Given the description of an element on the screen output the (x, y) to click on. 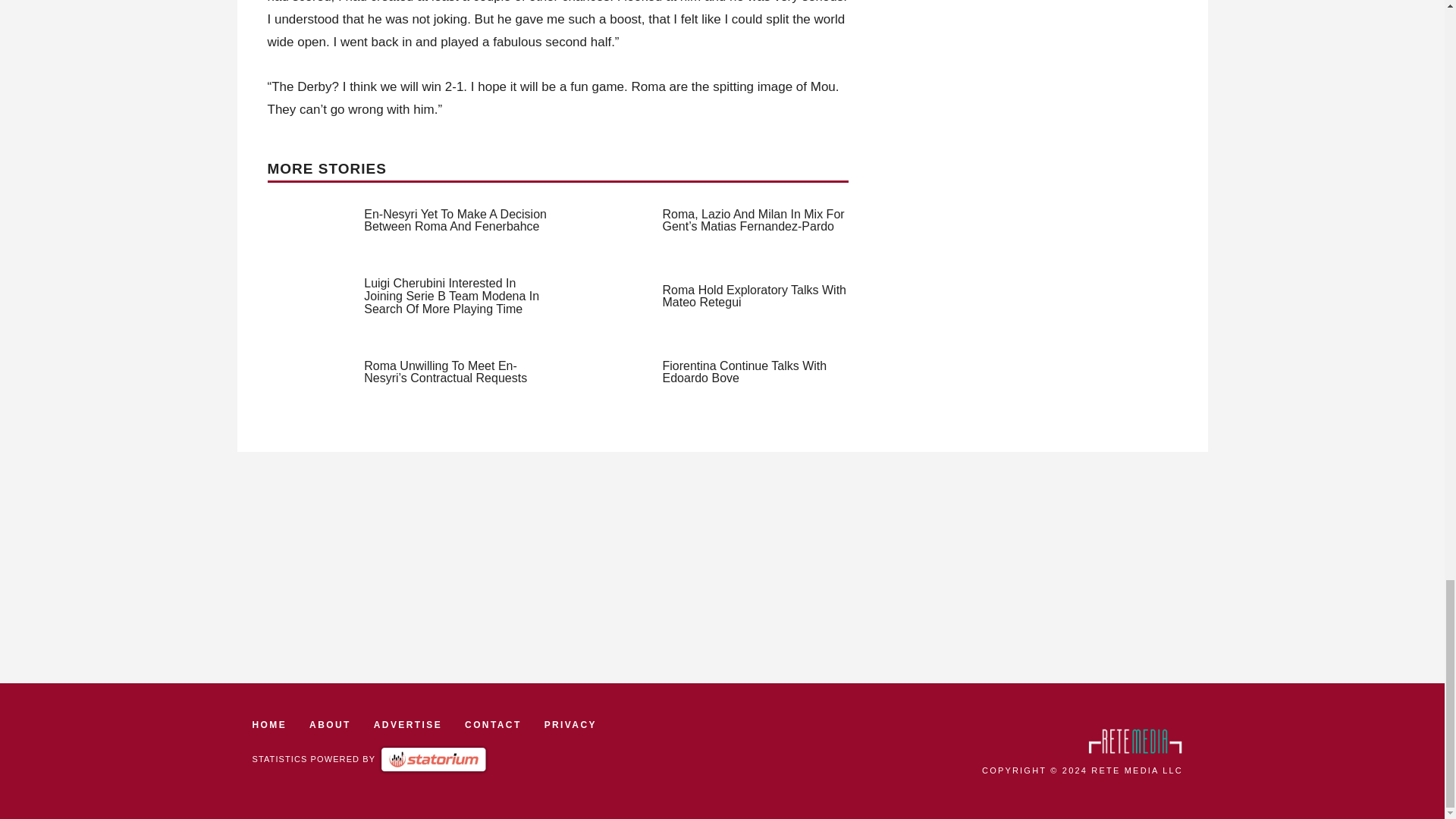
Roma Hold Exploratory Talks With Mateo Retegui (753, 296)
PRIVACY (570, 725)
CONTACT (492, 725)
ABOUT (329, 725)
En-Nesyri Yet To Make A Decision Between Roma And Fenerbahce (455, 220)
ADVERTISE (408, 725)
HOME (268, 725)
Fiorentina Continue Talks With Edoardo Bove (744, 371)
